Given the description of an element on the screen output the (x, y) to click on. 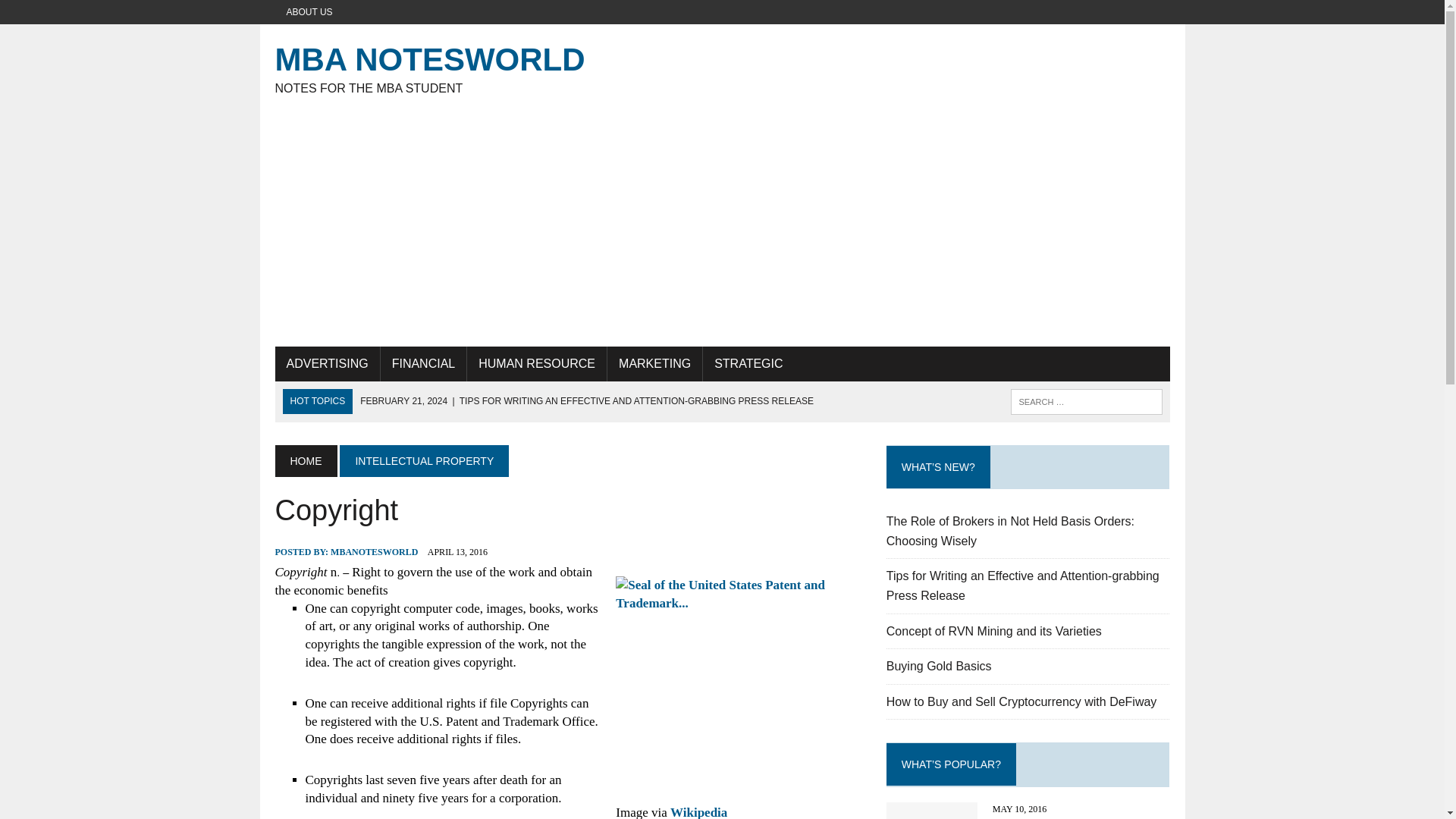
Wikipedia (697, 812)
MARKETING (654, 363)
INTELLECTUAL PROPERTY (423, 460)
Search (75, 14)
MBANOTESWORLD (373, 552)
HUMAN RESOURCE (537, 363)
MBA Notesworld (722, 67)
STRATEGIC (748, 363)
ABOUT US (309, 12)
